Given the description of an element on the screen output the (x, y) to click on. 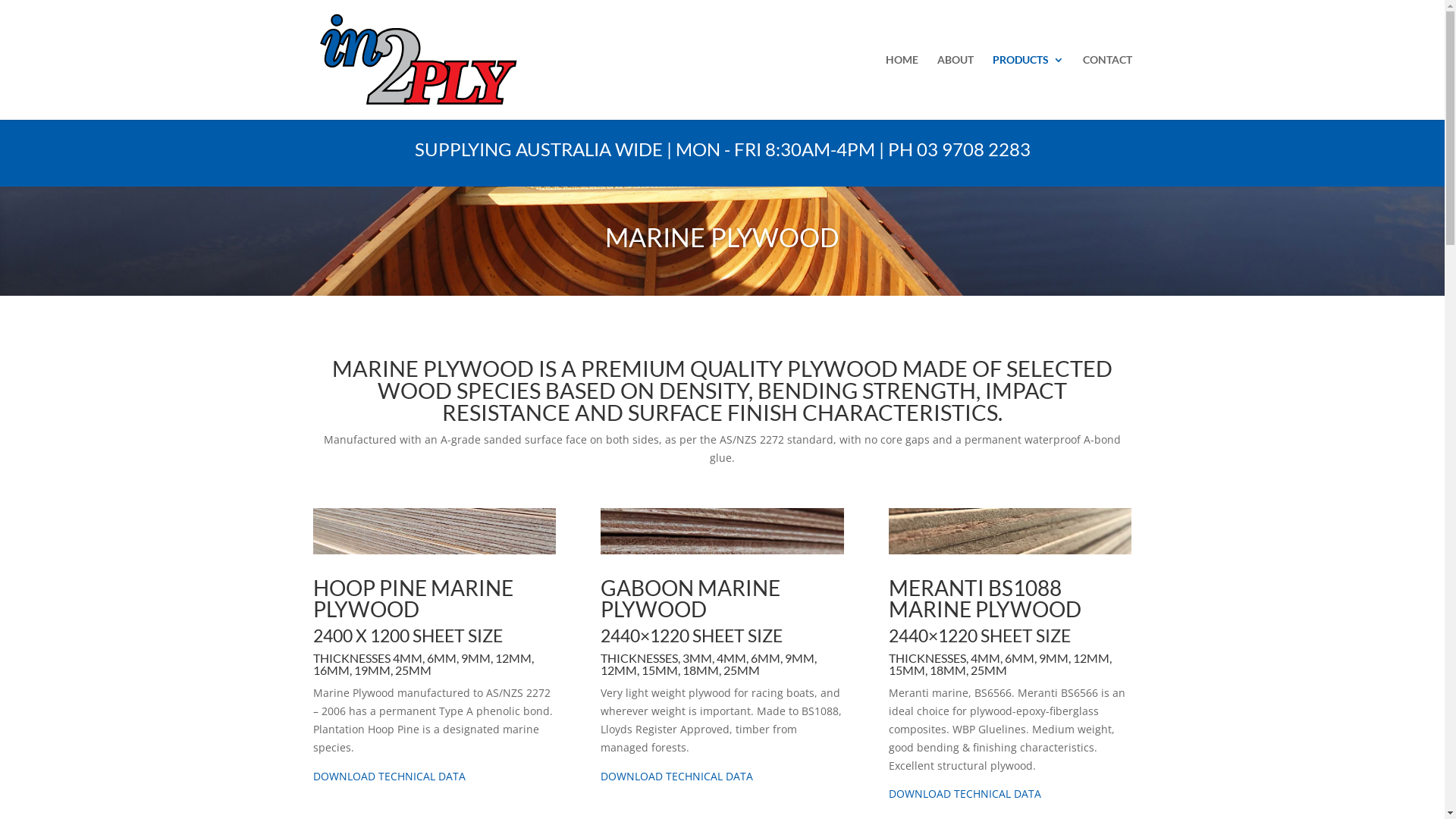
DOWNLOAD TECHNICAL DATA Element type: text (964, 793)
HOME Element type: text (901, 86)
PRODUCTS Element type: text (1027, 86)
CONTACT Element type: text (1107, 86)
DOWNLOAD TECHNICAL DATA Element type: text (676, 775)
DOWNLOAD TECHNICAL DATA Element type: text (388, 775)
ABOUT Element type: text (955, 86)
03 9708 2283 Element type: text (972, 149)
